Given the description of an element on the screen output the (x, y) to click on. 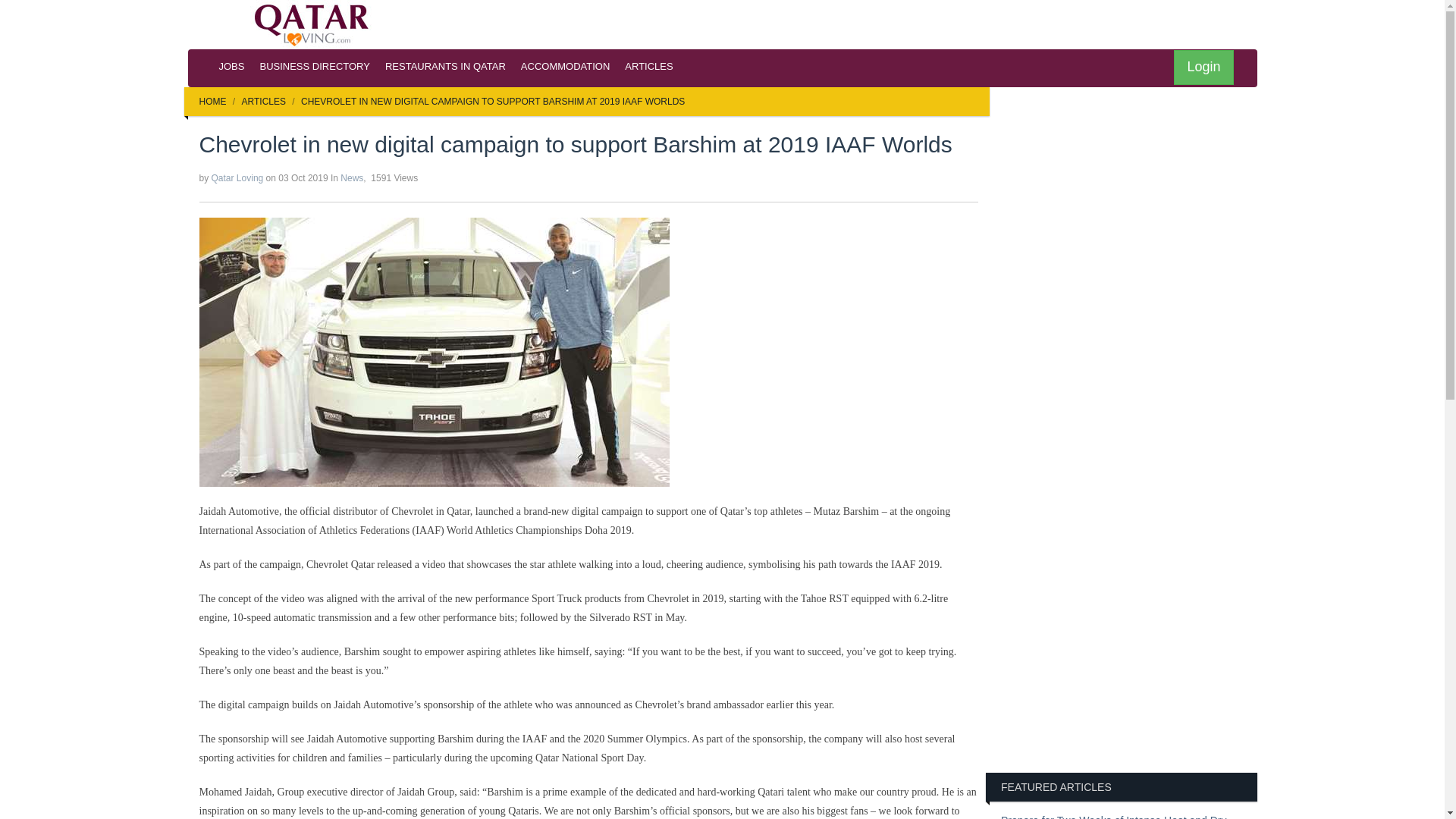
ARTICLES (263, 101)
JOBS (231, 66)
ACCOMMODATION (565, 66)
ARTICLES (648, 66)
Login (1203, 67)
Qatar Loving (237, 177)
News (351, 177)
RESTAURANTS IN QATAR (445, 66)
BUSINESS DIRECTORY (314, 66)
Advertisement (1128, 661)
HOME (211, 101)
